Given the description of an element on the screen output the (x, y) to click on. 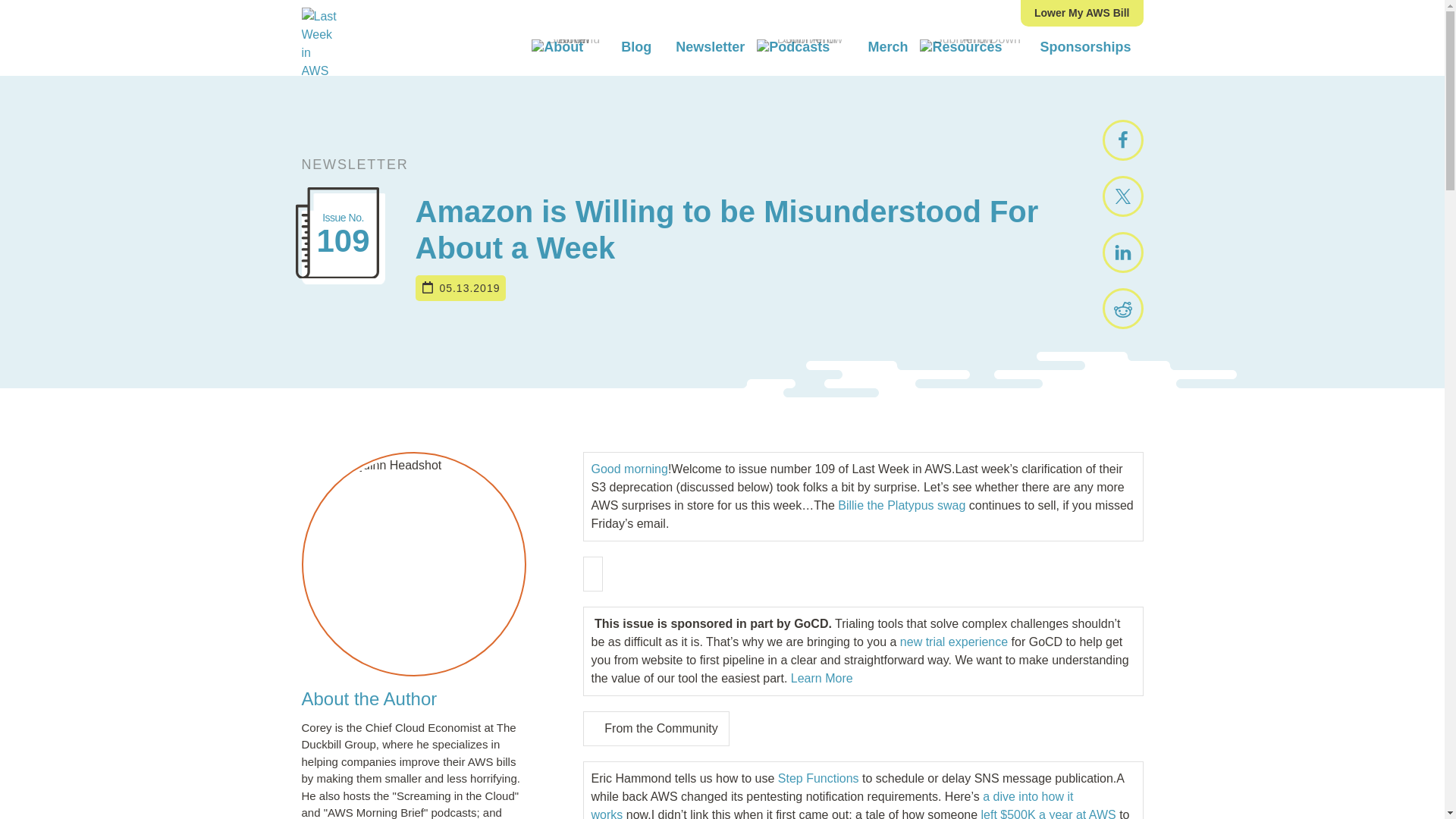
new trial experience (953, 641)
Podcasts (806, 47)
Good morning (629, 468)
Share on Twitter (1122, 196)
Blog (635, 47)
Billie the Platypus swag (901, 504)
About (569, 47)
Sponsorships (1084, 47)
Step Functions (818, 778)
